Given the description of an element on the screen output the (x, y) to click on. 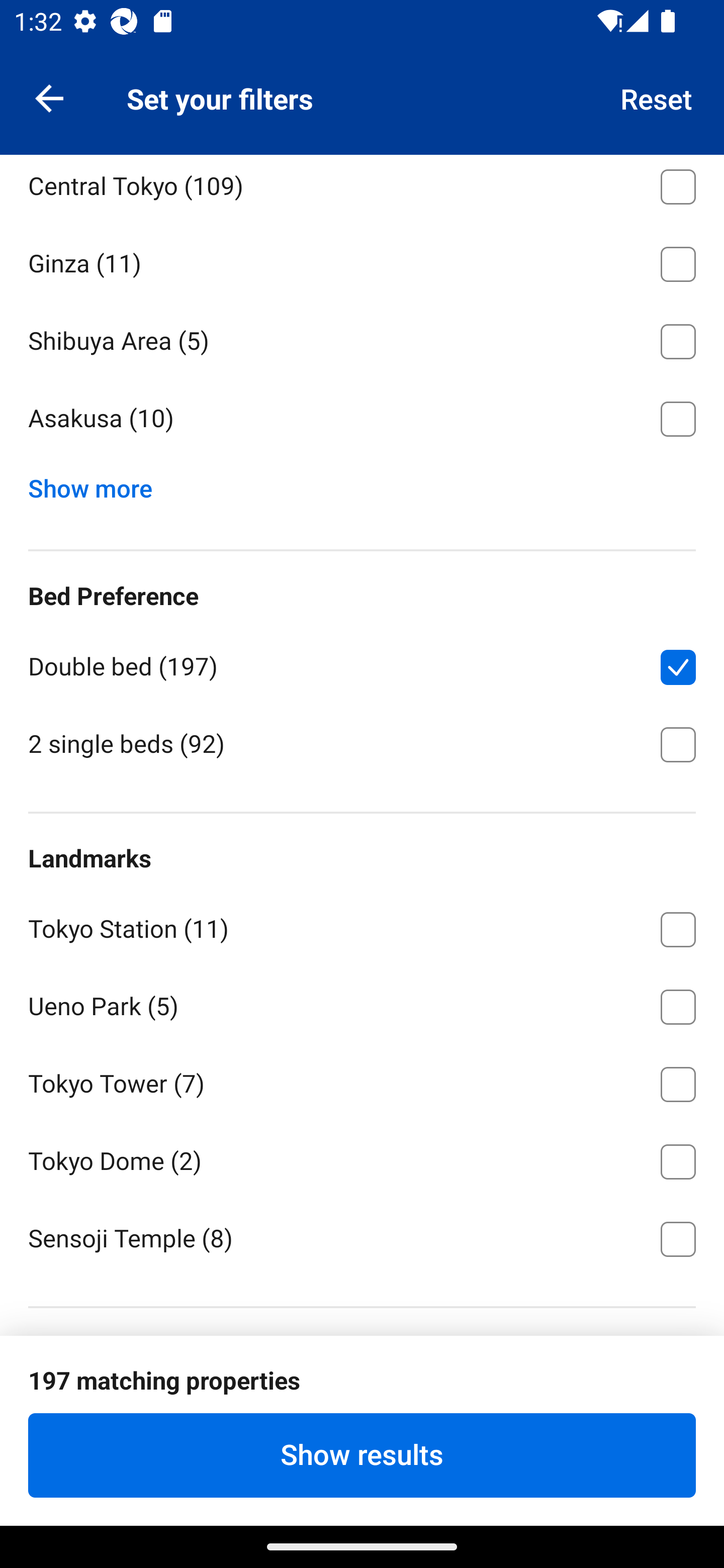
Navigate up (49, 97)
Reset (656, 97)
Shinjuku Area ⁦(22) (361, 105)
Central Tokyo ⁦(109) (361, 188)
Ginza ⁦(11) (361, 260)
Shibuya Area ⁦(5) (361, 337)
Asakusa ⁦(10) (361, 418)
Show more (97, 483)
Double bed ⁦(197) (361, 663)
2 single beds ⁦(92) (361, 743)
Tokyo Station ⁦(11) (361, 925)
Ueno Park ⁦(5) (361, 1003)
Tokyo Tower ⁦(7) (361, 1080)
Tokyo Dome ⁦(2) (361, 1157)
Sensoji Temple ⁦(8) (361, 1236)
Show results (361, 1454)
